Given the description of an element on the screen output the (x, y) to click on. 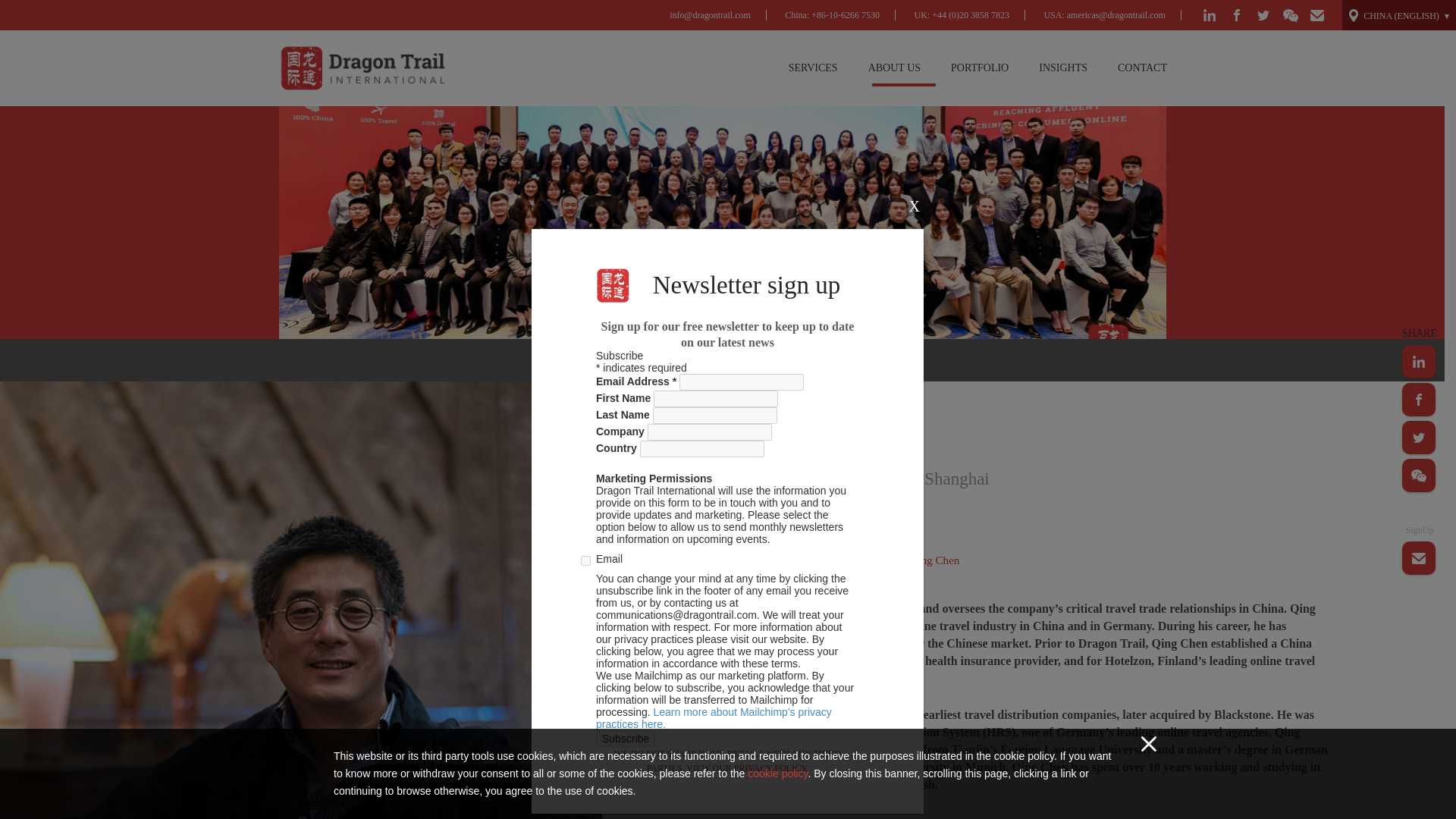
PREVIOUS (664, 358)
Subscribe (625, 738)
PORTFOLIO (979, 68)
CONTACT (1142, 68)
ABOUT US (894, 68)
Y (585, 560)
INSIGHTS (1062, 68)
SERVICES (813, 68)
